Given the description of an element on the screen output the (x, y) to click on. 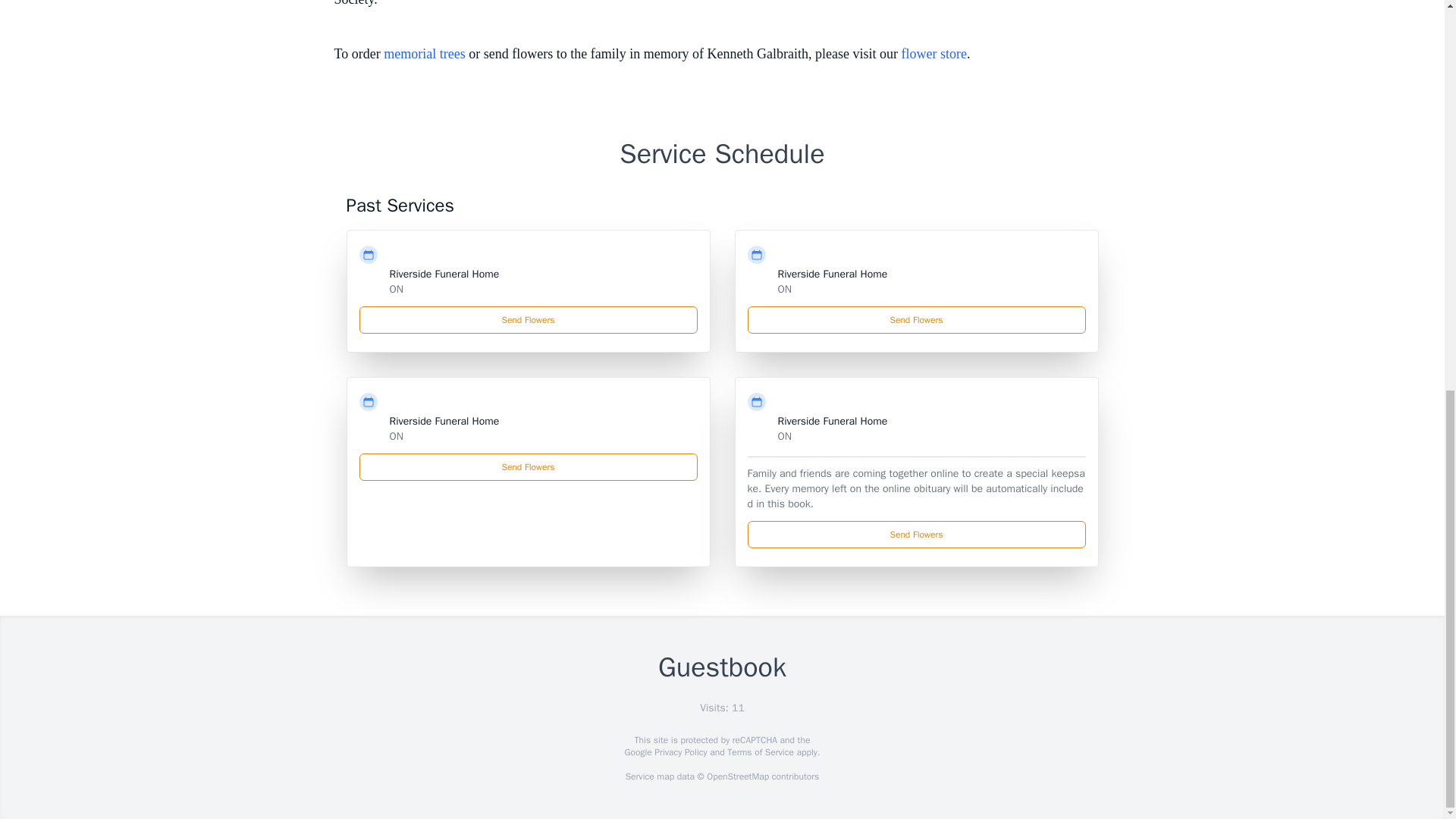
Send Flowers (528, 319)
ON (396, 288)
ON (784, 436)
Send Flowers (528, 466)
Terms of Service (759, 752)
memorial trees (424, 53)
OpenStreetMap (737, 776)
ON (396, 436)
Send Flowers (917, 319)
flower store (933, 53)
ON (784, 288)
Send Flowers (917, 533)
Privacy Policy (679, 752)
